Given the description of an element on the screen output the (x, y) to click on. 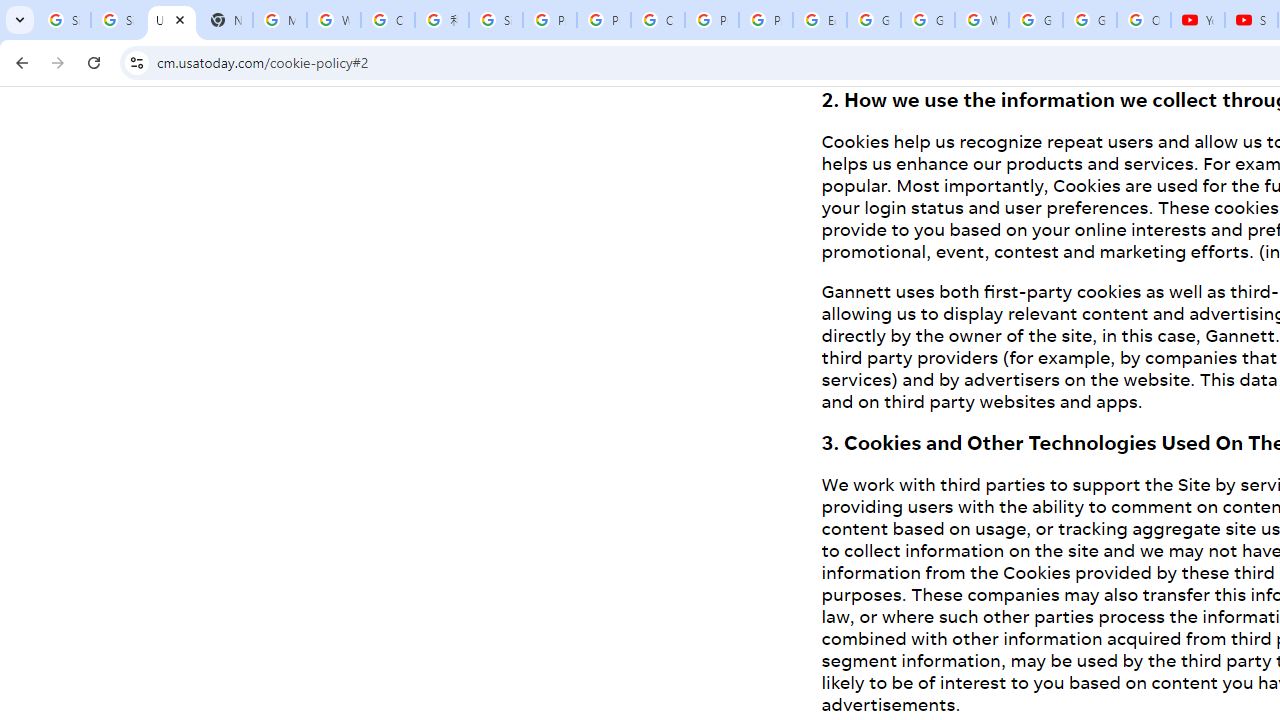
New Tab (225, 20)
YouTube (1197, 20)
Edit and view right-to-left text - Google Docs Editors Help (819, 20)
Sign in - Google Accounts (117, 20)
Create your Google Account (657, 20)
